Given the description of an element on the screen output the (x, y) to click on. 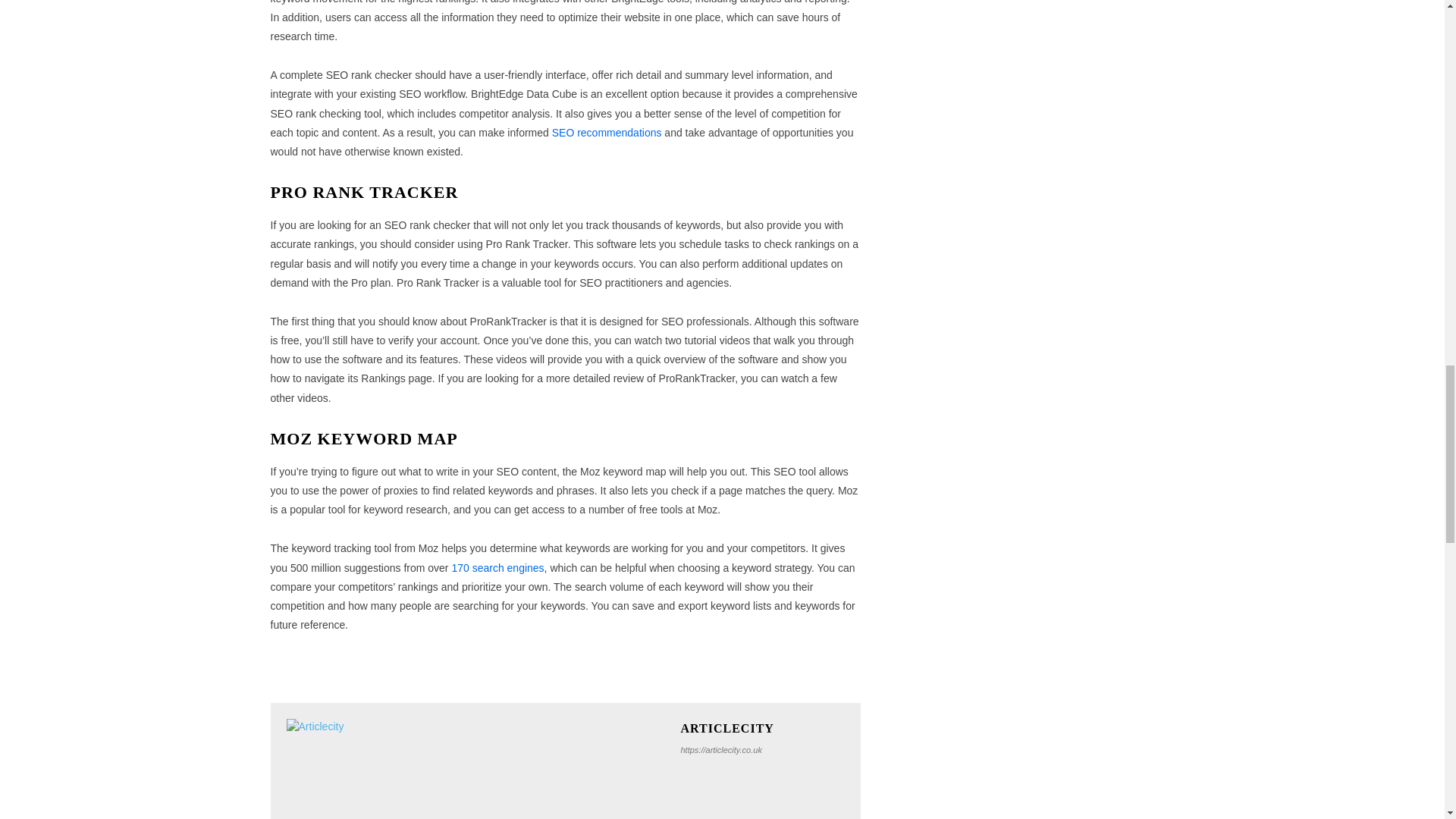
Articlecity (475, 769)
